Given the description of an element on the screen output the (x, y) to click on. 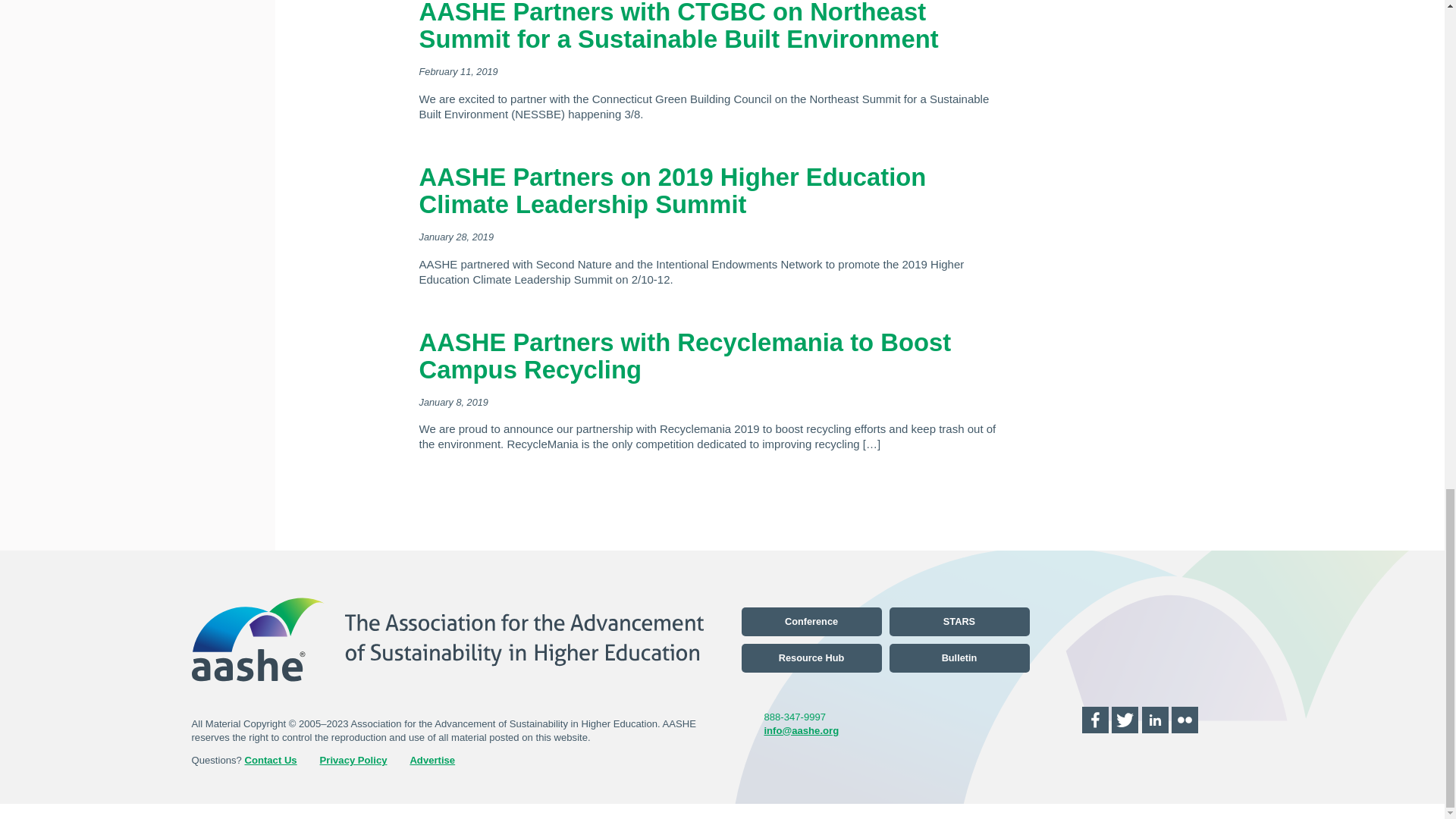
AASHE Partners with Recyclemania to Boost Campus Recycling (684, 355)
